Given the description of an element on the screen output the (x, y) to click on. 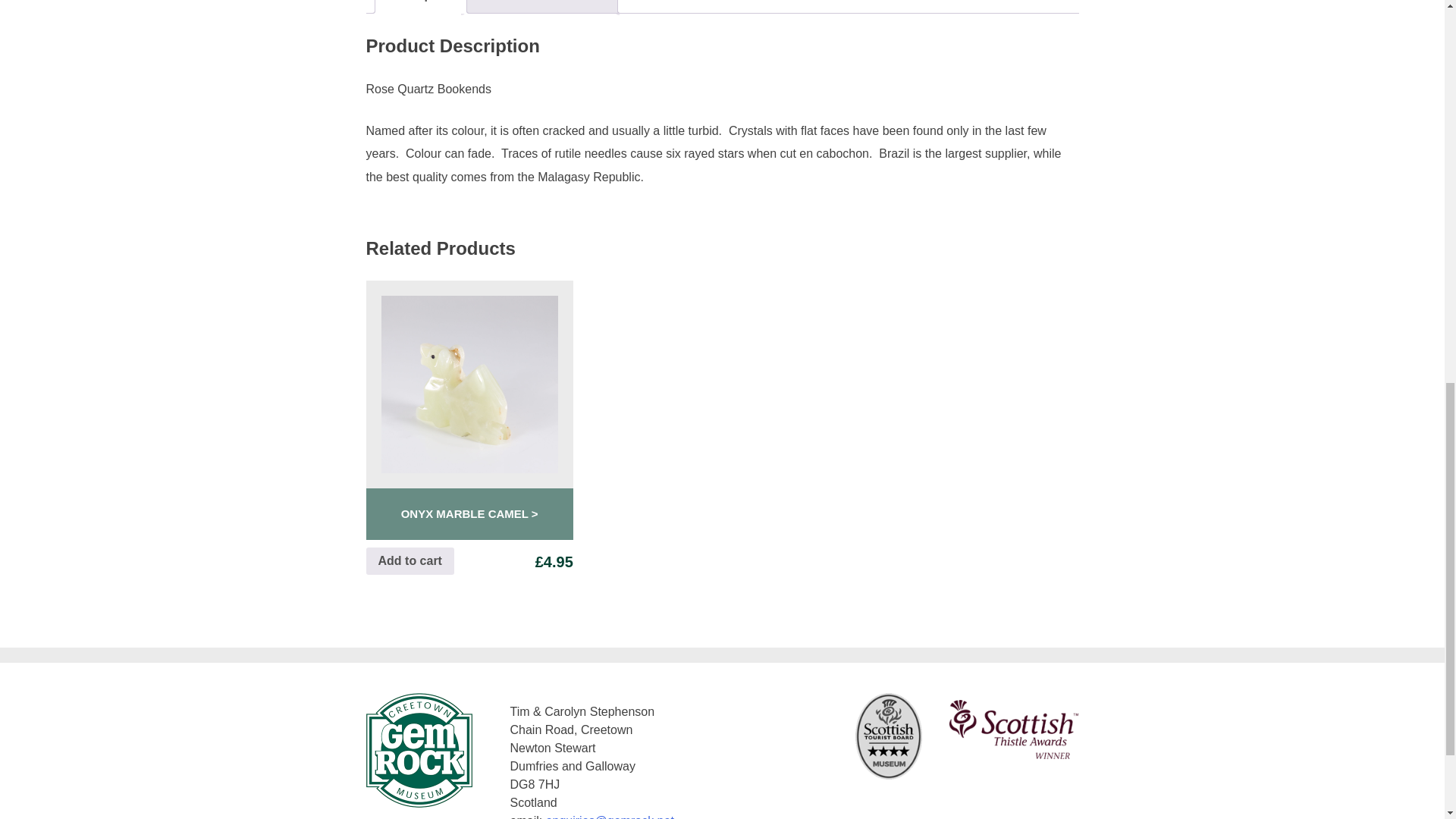
Description (419, 6)
Add to cart (408, 560)
ONYX MARBLE CAMEL (468, 514)
Additional information (540, 6)
Onyx Marble Camel (468, 514)
